Given the description of an element on the screen output the (x, y) to click on. 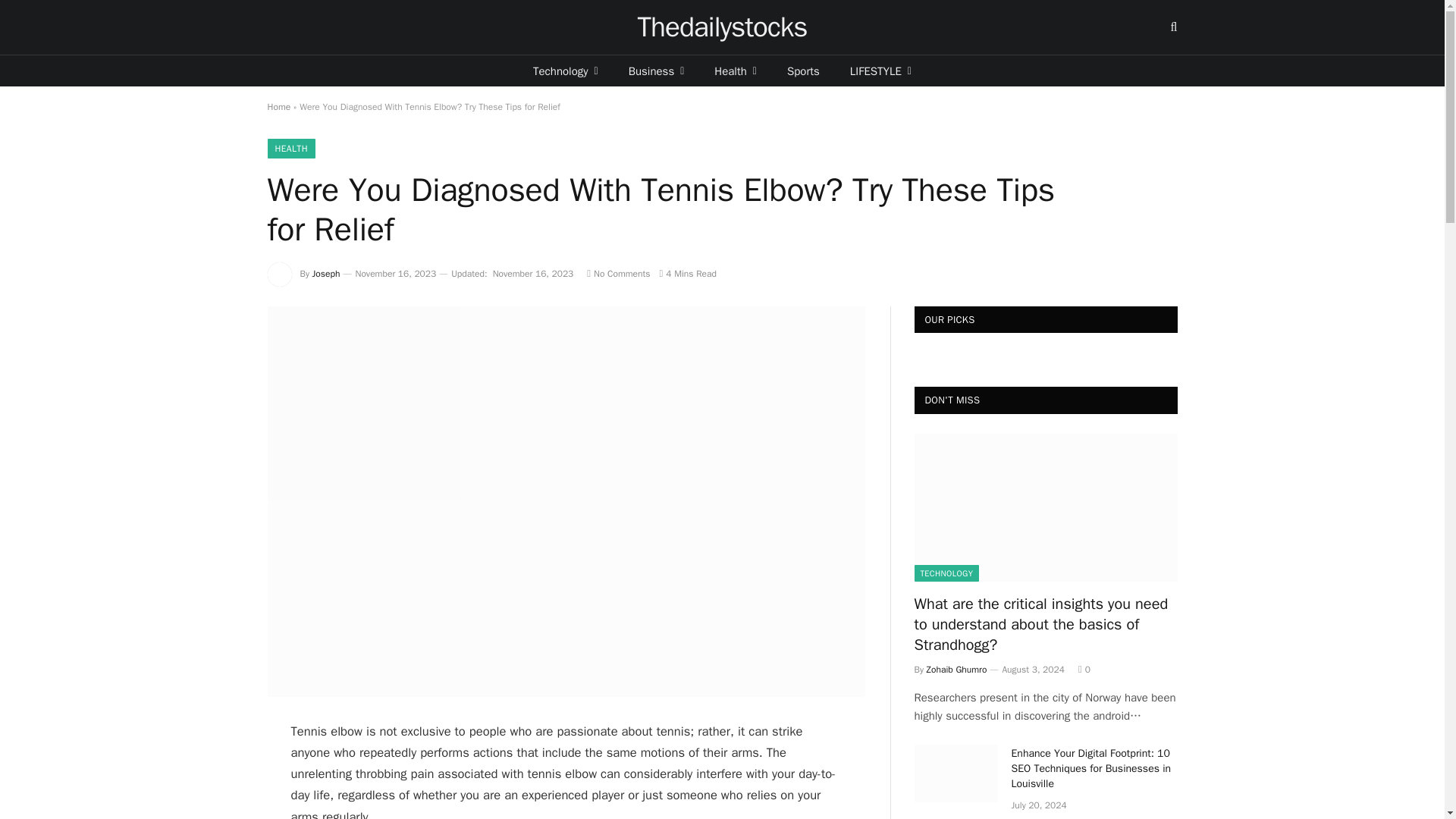
Thedailystocks (721, 26)
Thedailystocks (721, 26)
Technology (565, 70)
Business (656, 70)
Health (734, 70)
